Given the description of an element on the screen output the (x, y) to click on. 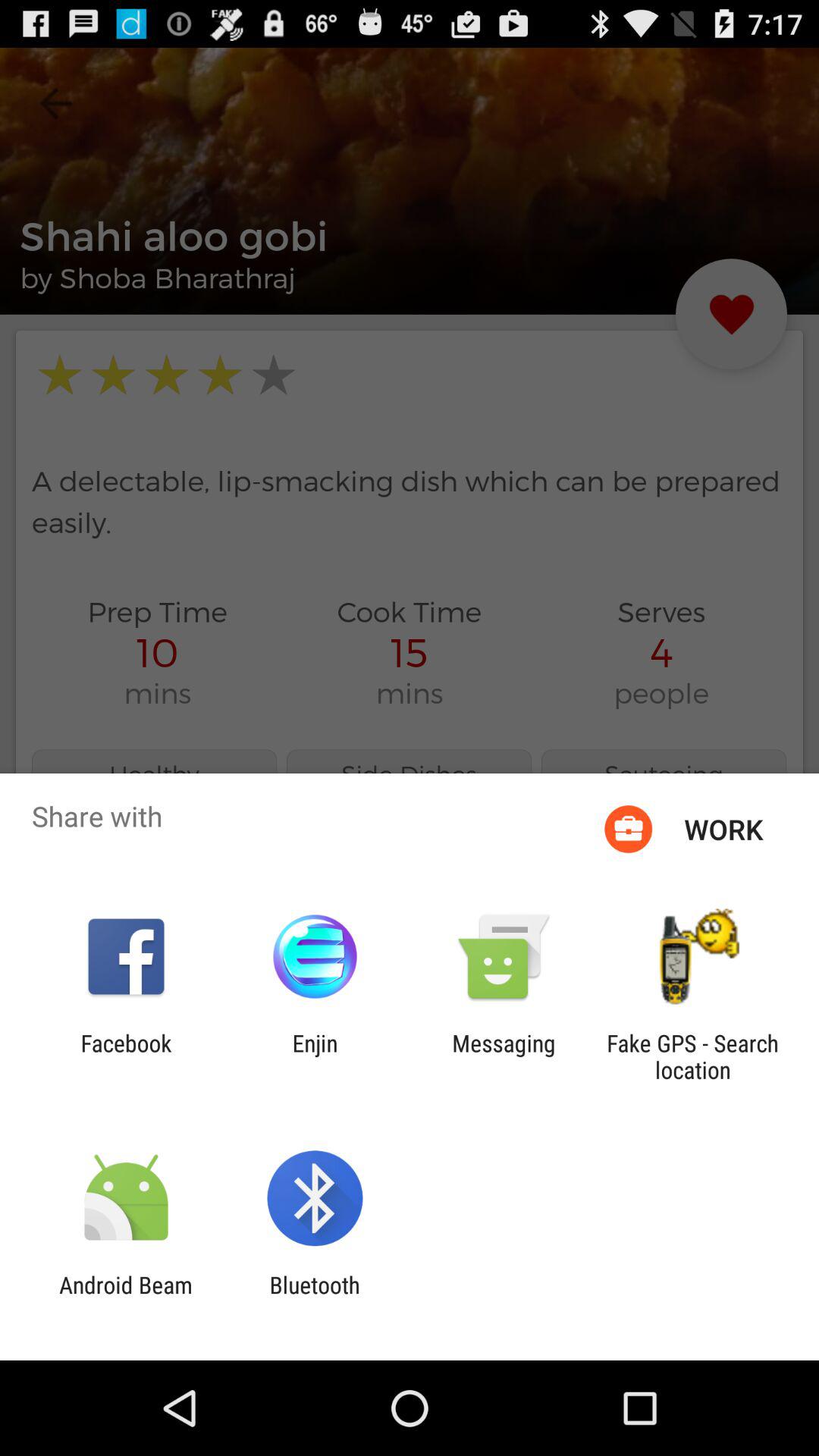
scroll until the fake gps search app (692, 1056)
